Given the description of an element on the screen output the (x, y) to click on. 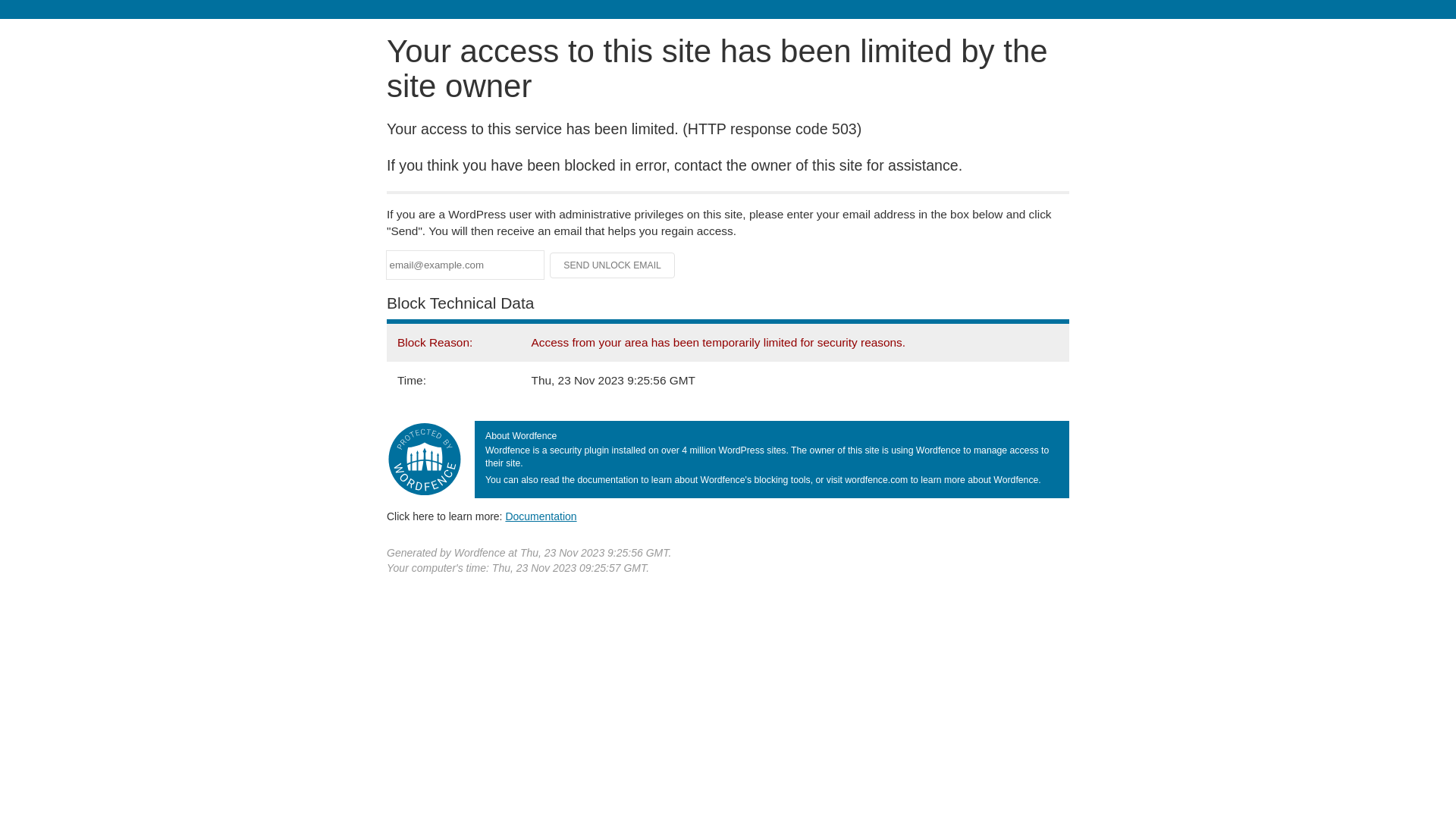
Documentation Element type: text (540, 516)
Send Unlock Email Element type: text (612, 265)
